Given the description of an element on the screen output the (x, y) to click on. 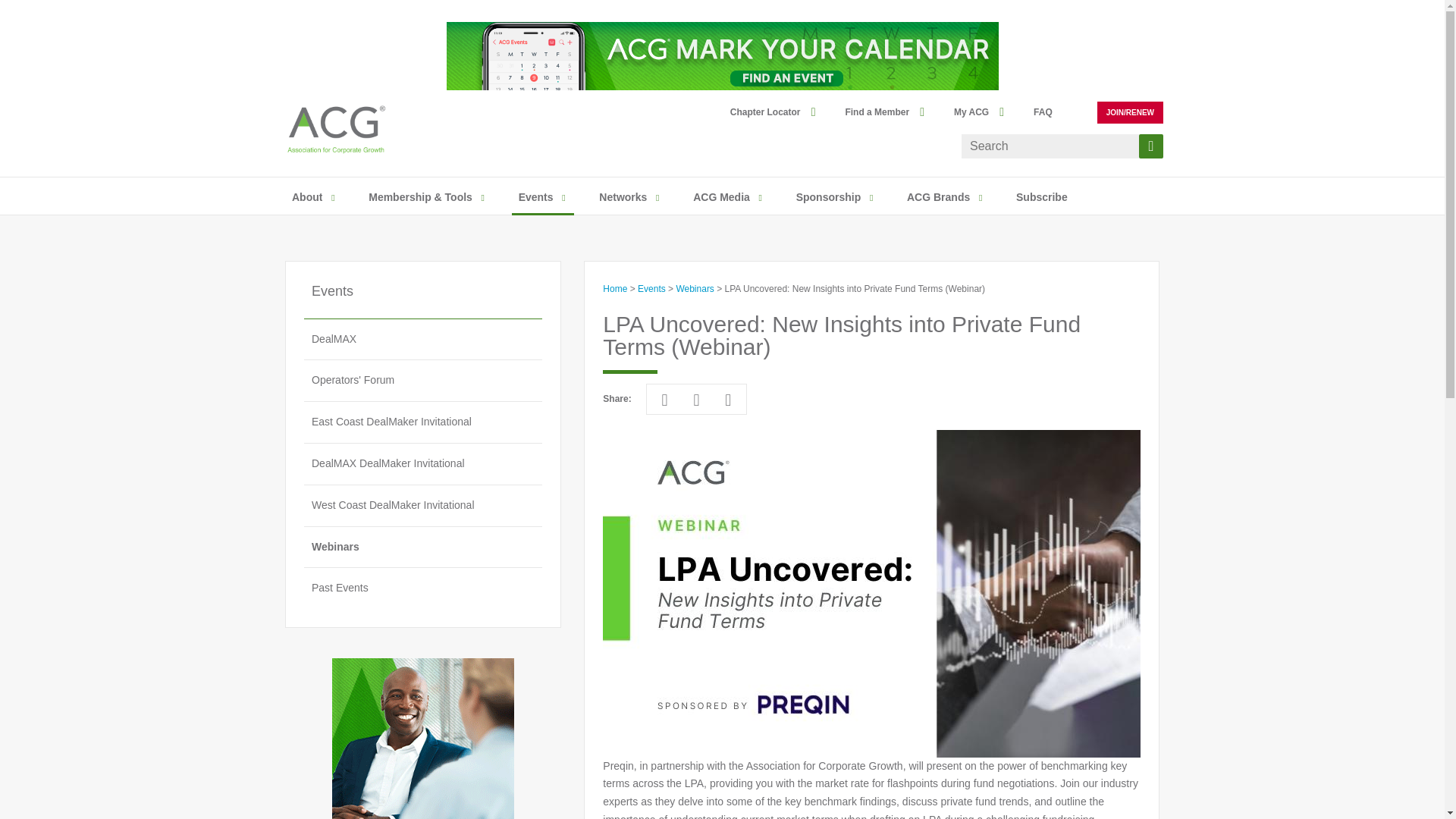
FAQ (1050, 112)
SEARCH (1150, 146)
Events (422, 299)
My ACG (978, 112)
About (306, 198)
Events (535, 198)
Mailing List Sign Up (1041, 198)
Chapter Locator (772, 112)
Operators' Forum (422, 380)
Find a Member (884, 112)
Events (535, 198)
